Given the description of an element on the screen output the (x, y) to click on. 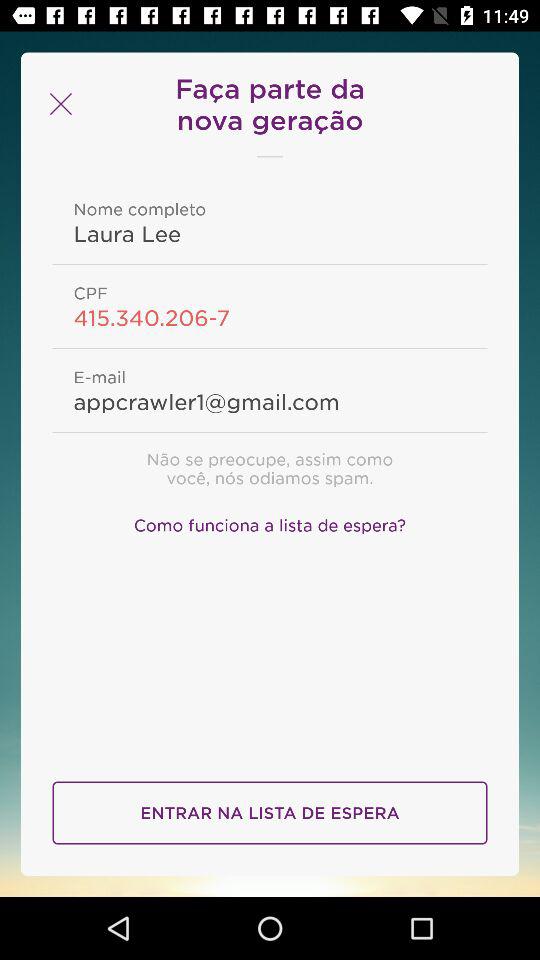
jump until entrar na lista item (269, 812)
